Given the description of an element on the screen output the (x, y) to click on. 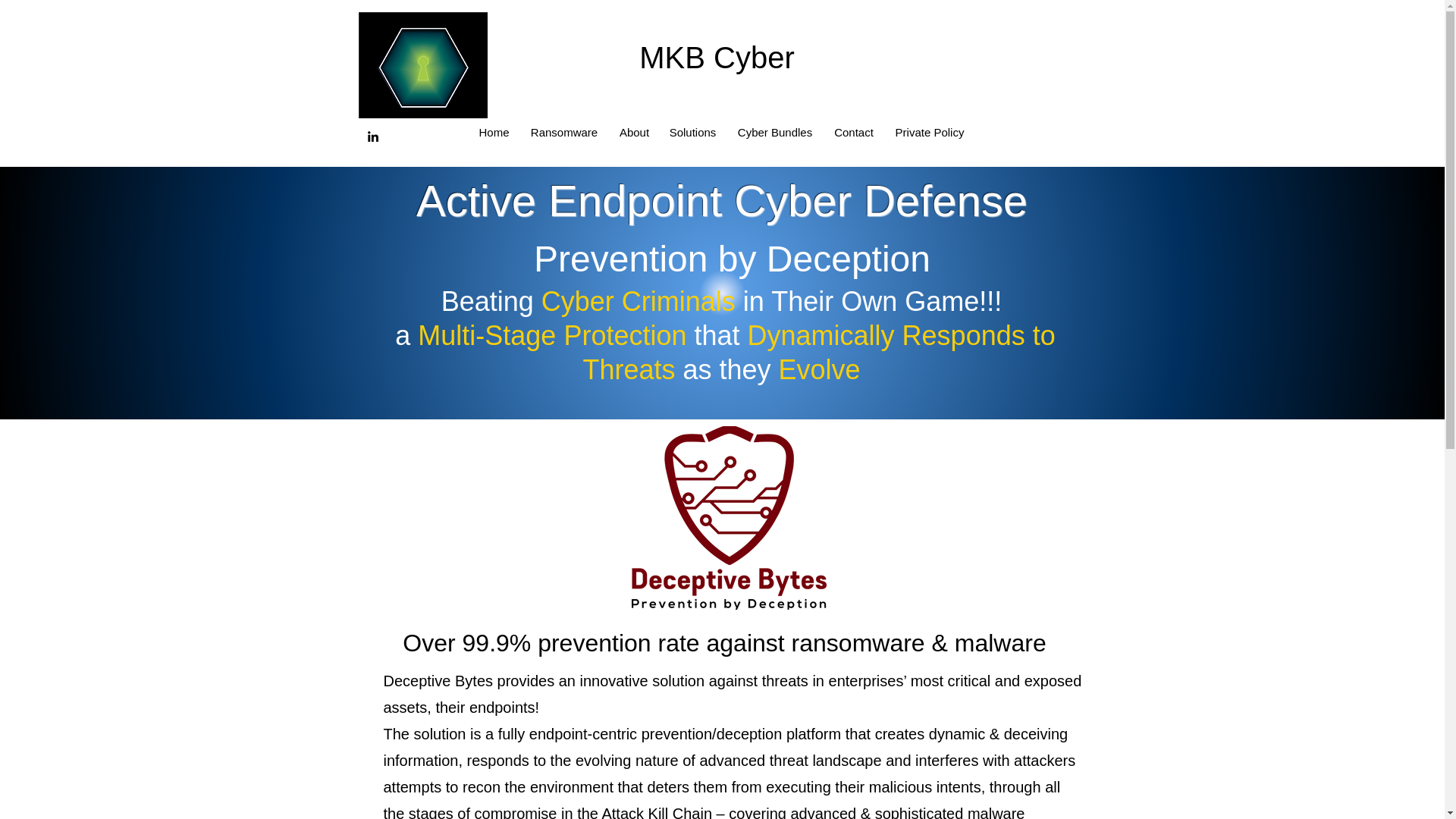
Contact (853, 132)
MKB Cyber   (724, 57)
Ransomware (563, 132)
Cyber Bundles (775, 132)
Home (493, 132)
About (634, 132)
Private Policy (929, 132)
Rnsomware Protectin (422, 64)
